Given the description of an element on the screen output the (x, y) to click on. 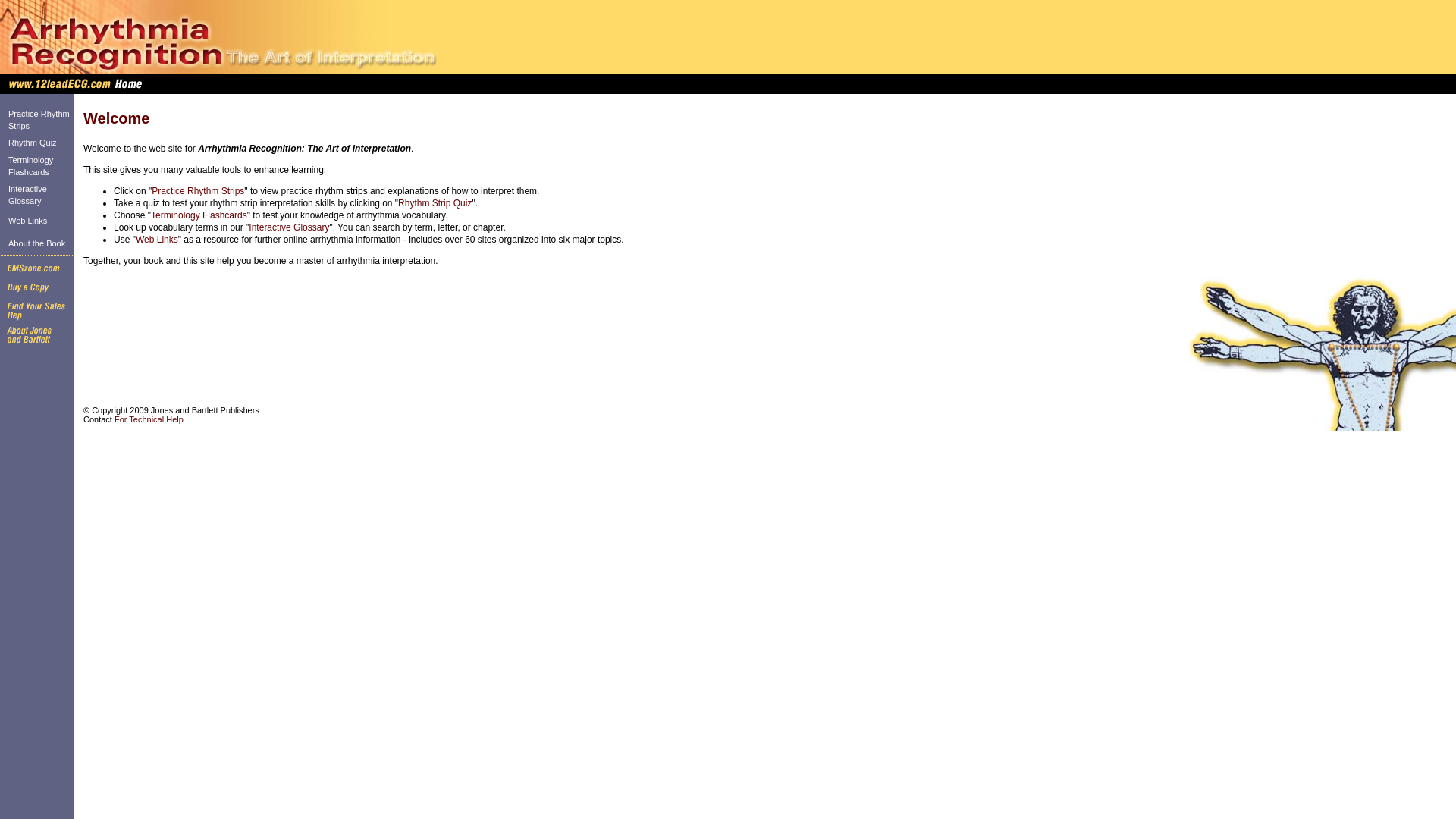
For Technical Help Element type: text (148, 418)
Terminology Flashcards Element type: text (198, 215)
About the Book Element type: text (36, 242)
Rhythm Strip Quiz Element type: text (434, 202)
Interactive Glossary Element type: text (288, 227)
Practice Rhythm Strips Element type: text (38, 119)
Practice Rhythm Strips Element type: text (197, 190)
Terminology Flashcards Element type: text (30, 165)
Rhythm Quiz Element type: text (32, 142)
Web Links Element type: text (27, 220)
Web Links Element type: text (156, 239)
Interactive Glossary Element type: text (27, 194)
